Given the description of an element on the screen output the (x, y) to click on. 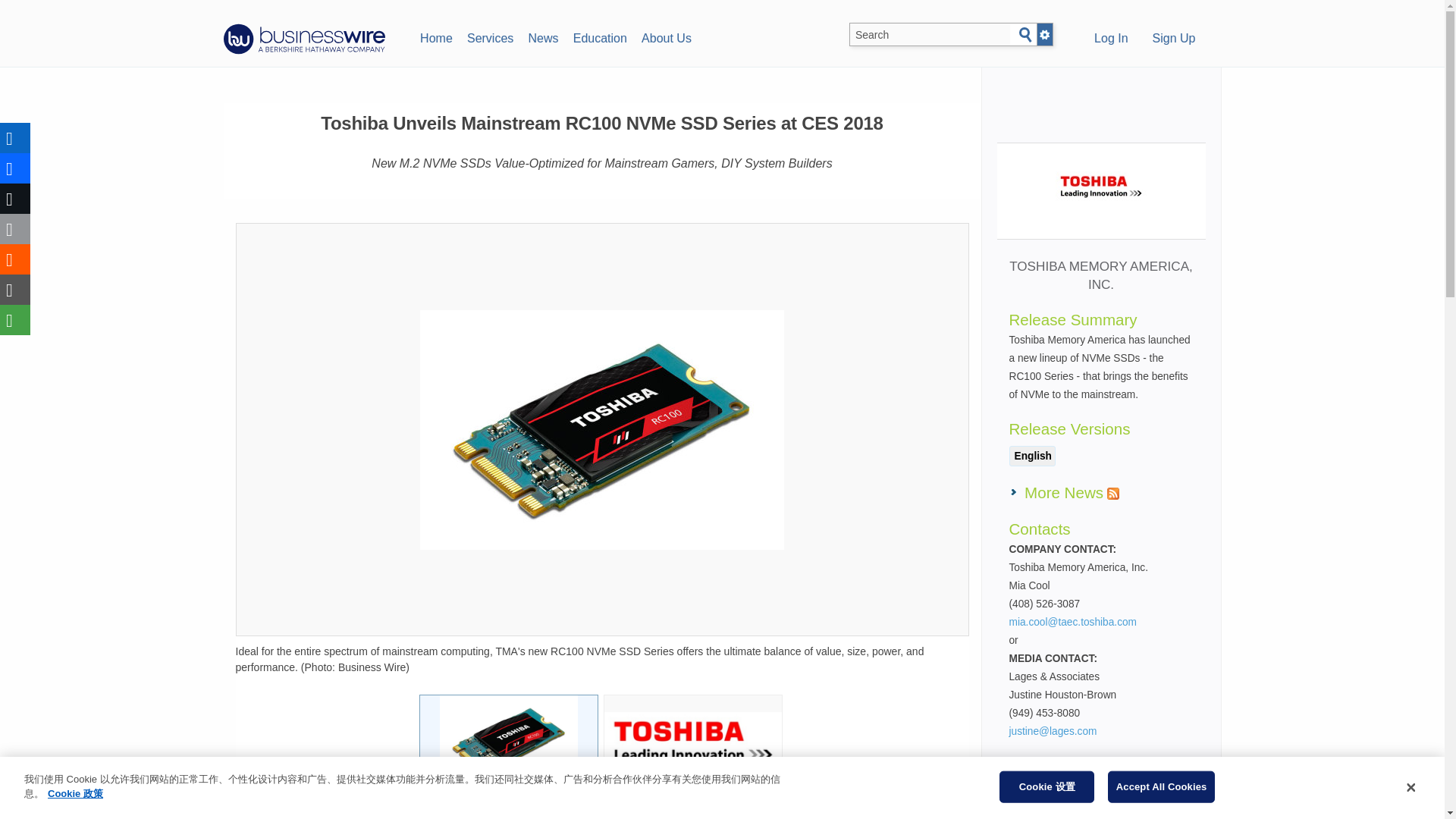
Search BusinessWire.com (930, 34)
RSS feed for null (1112, 493)
News (543, 36)
Services (490, 36)
Home (436, 36)
